Given the description of an element on the screen output the (x, y) to click on. 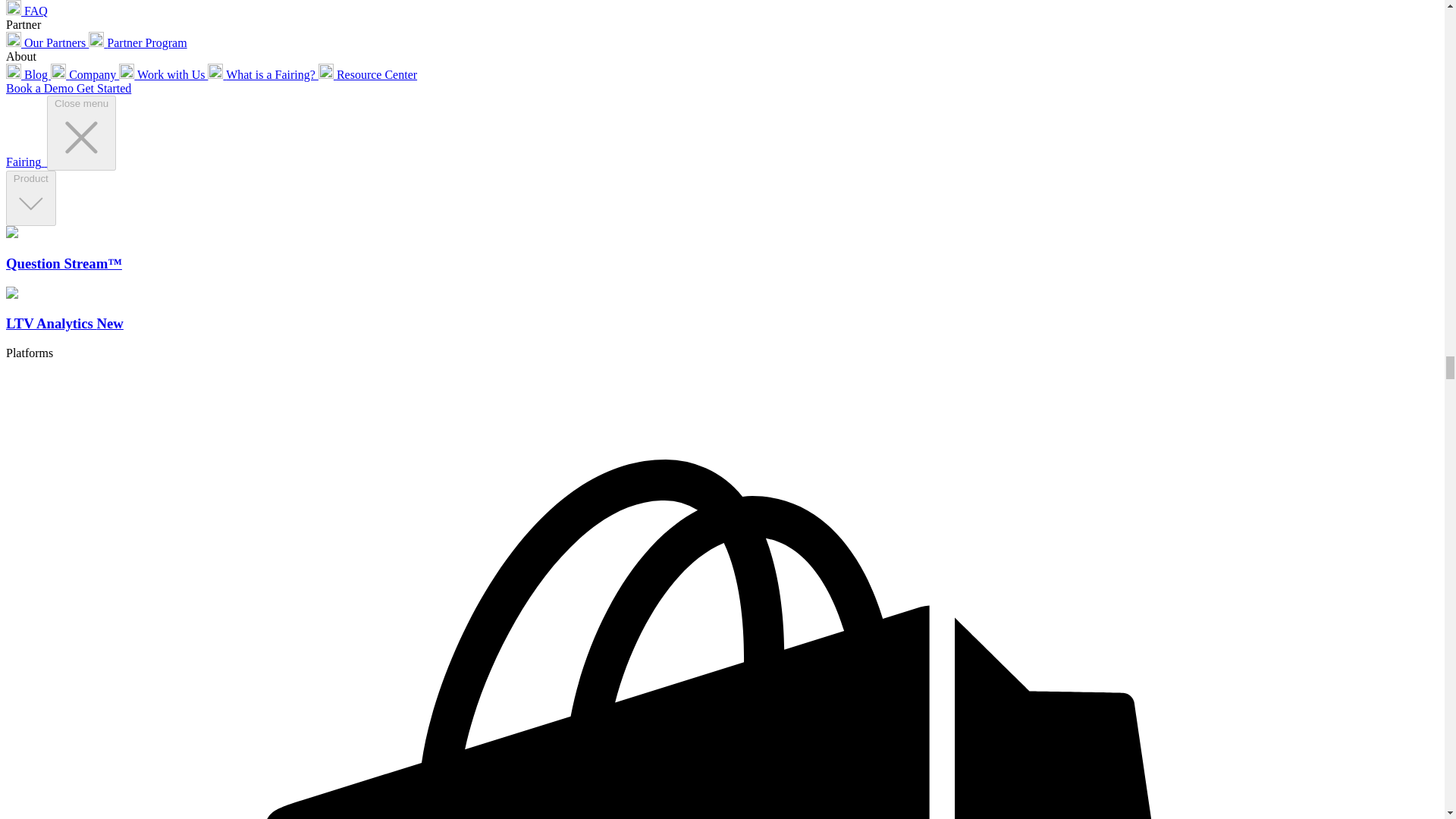
Company (84, 74)
Fairing (25, 161)
Product (30, 198)
Partner Program (137, 42)
Resource Center (367, 74)
Our Partners (46, 42)
Work with Us (163, 74)
Book a Demo (41, 88)
FAQ (26, 10)
Blog (27, 74)
